Given the description of an element on the screen output the (x, y) to click on. 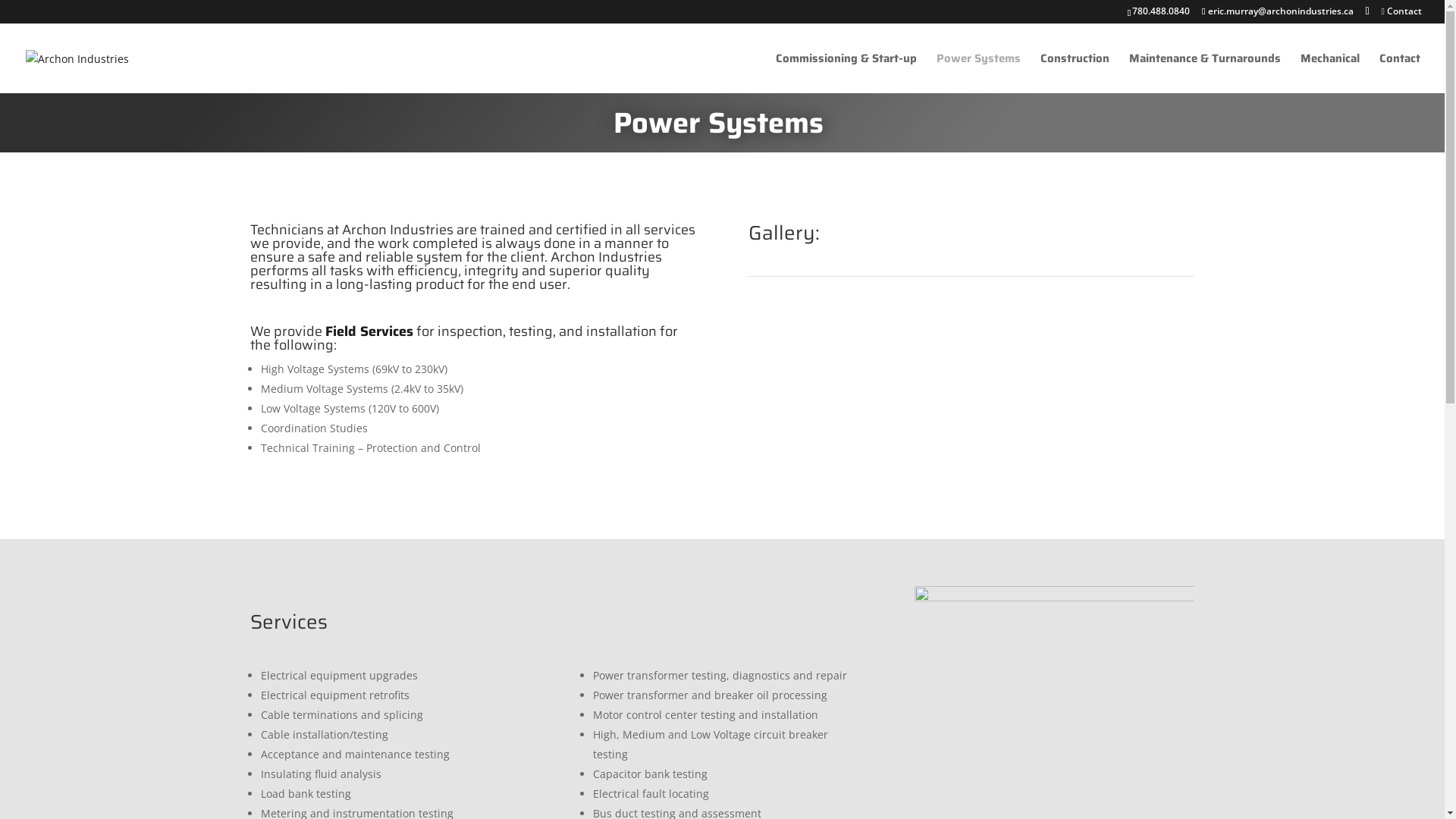
Maintenance & Turnarounds Element type: text (1204, 73)
Power Systems Element type: text (978, 73)
Construction Element type: text (1074, 73)
Mechanical Element type: text (1329, 73)
eric.murray@archonindustries.ca Element type: text (1277, 10)
Commissioning & Start-up Element type: text (845, 73)
Contact Element type: text (1399, 73)
